Given the description of an element on the screen output the (x, y) to click on. 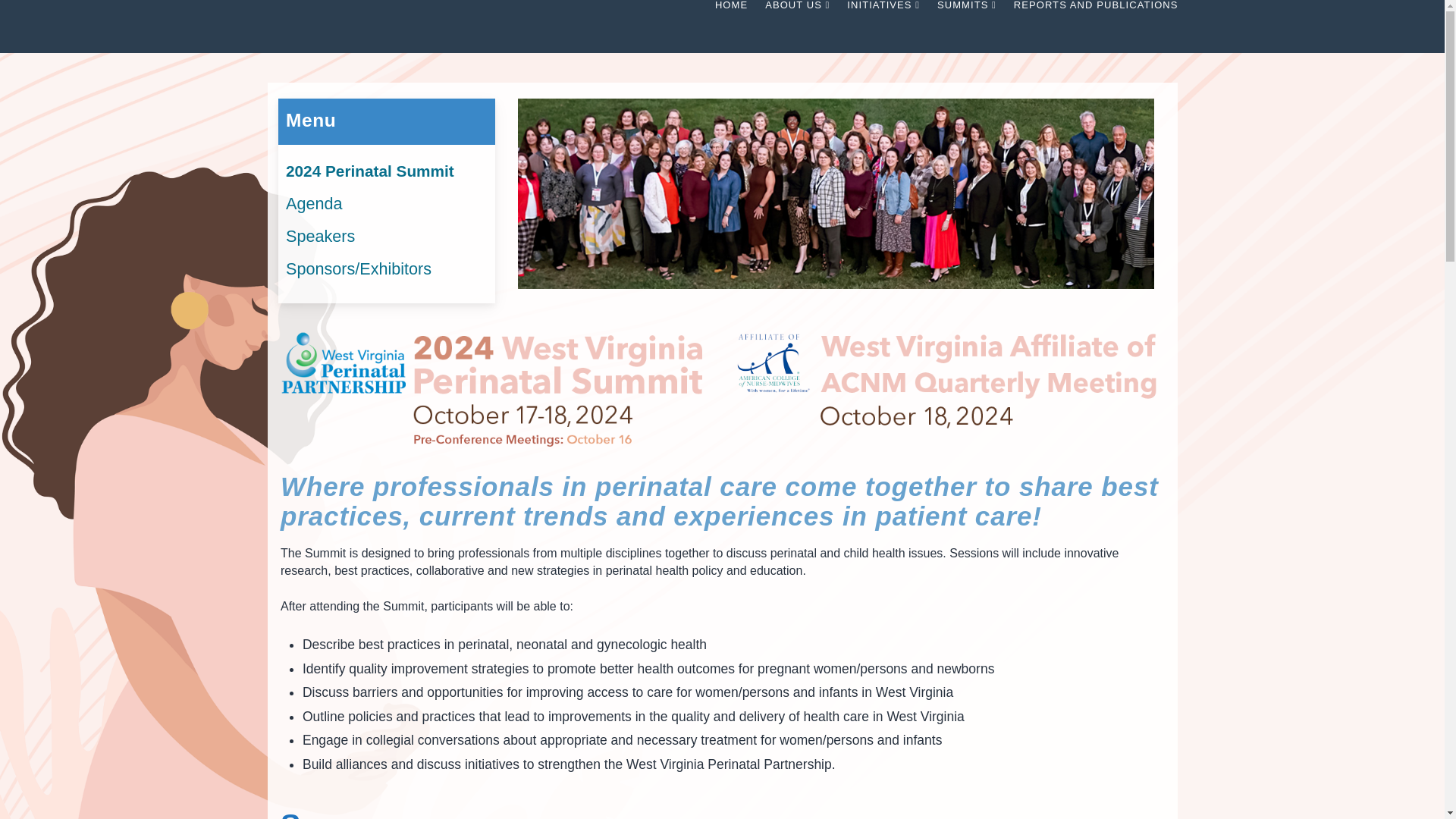
INITIATIVES (883, 26)
HOME (730, 26)
ABOUT US (796, 26)
